Given the description of an element on the screen output the (x, y) to click on. 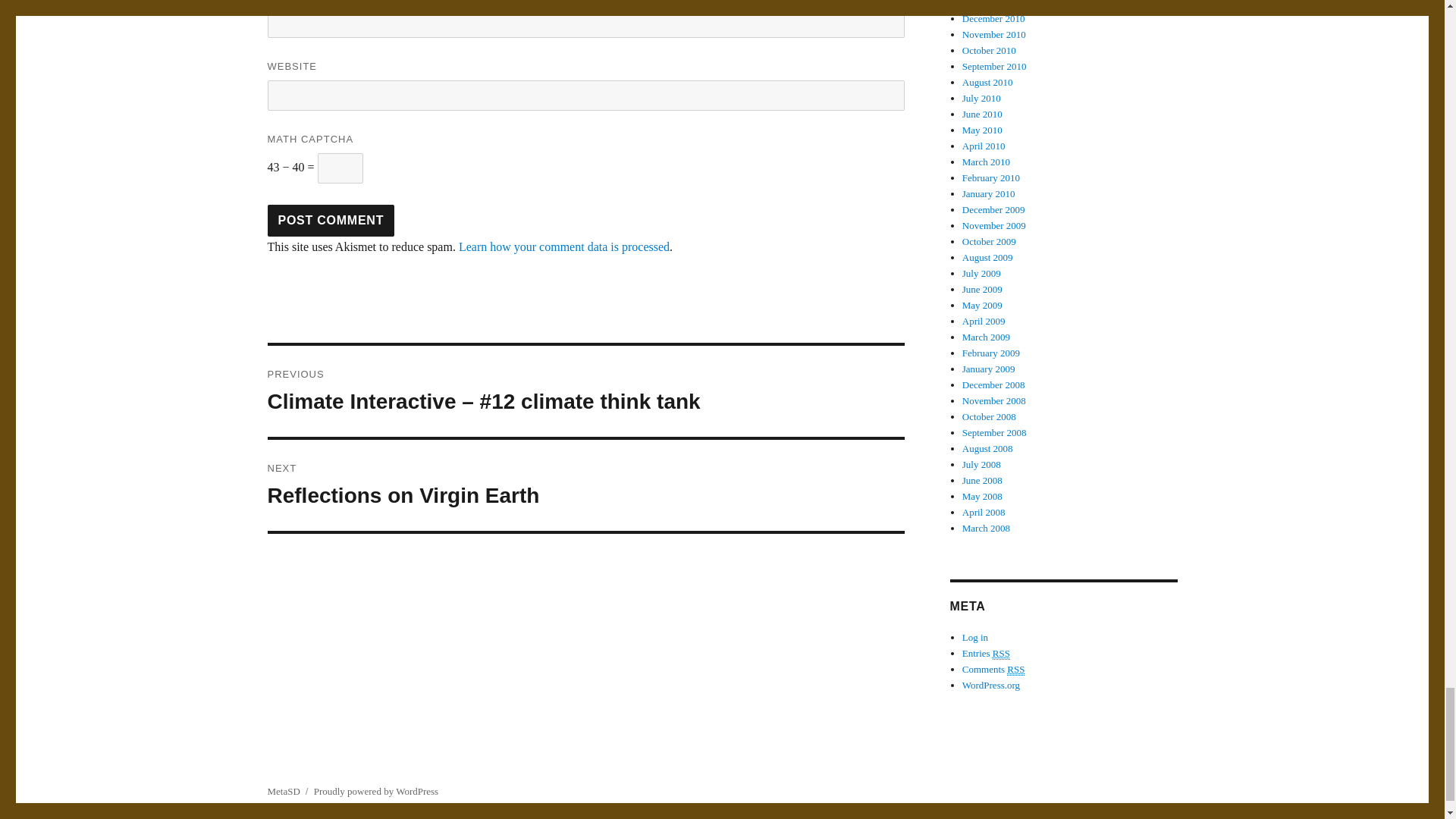
Post Comment (330, 220)
Really Simple Syndication (1001, 653)
Post Comment (330, 220)
Learn how your comment data is processed (563, 246)
Really Simple Syndication (585, 484)
